Given the description of an element on the screen output the (x, y) to click on. 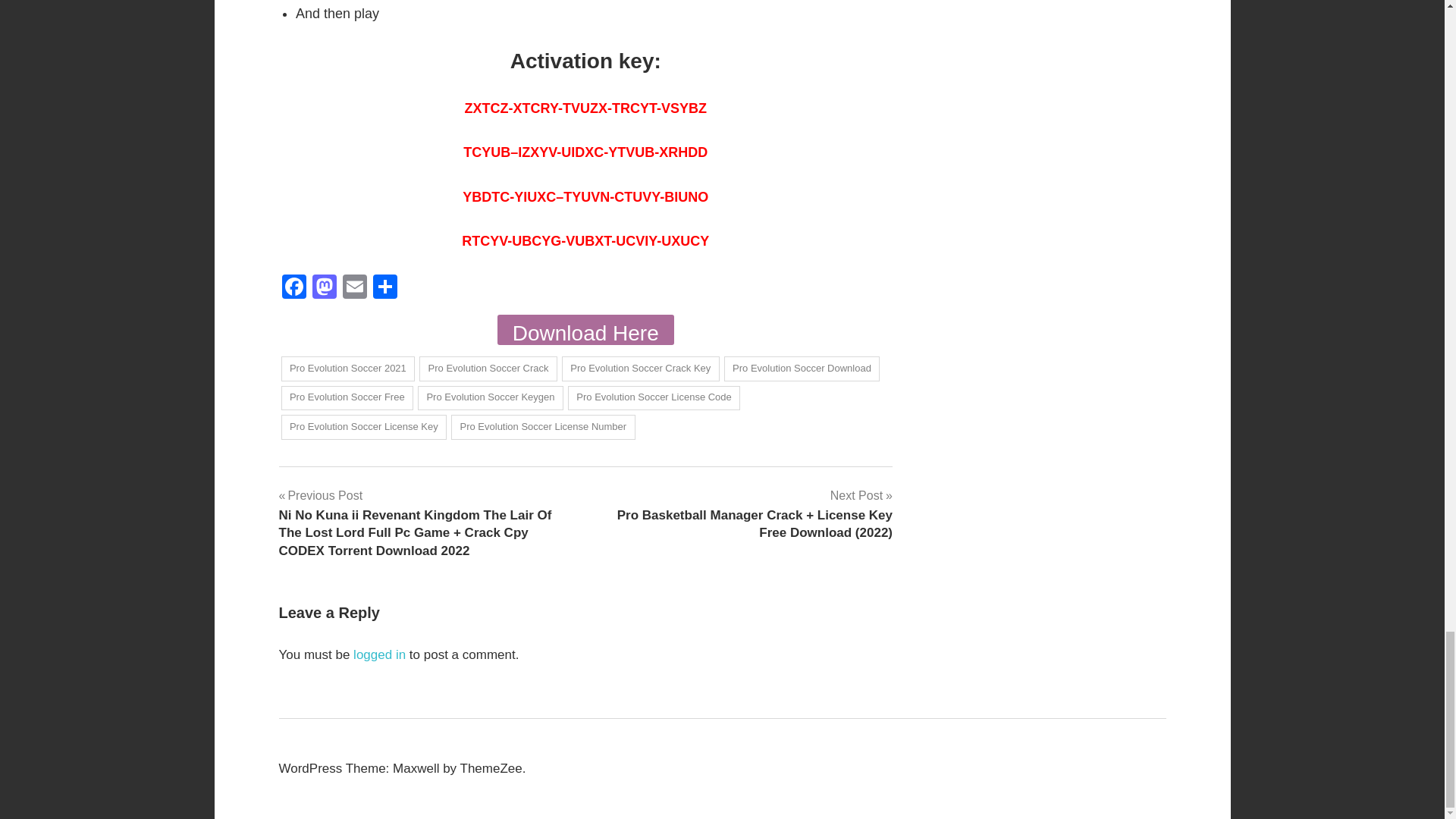
Pro Evolution Soccer 2021 (347, 368)
Pro Evolution Soccer Crack (488, 368)
logged in (379, 654)
Mastodon (323, 287)
Facebook (293, 287)
Mastodon (323, 287)
Pro Evolution Soccer Crack Key (640, 368)
Pro Evolution Soccer Download (801, 368)
Pro Evolution Soccer License Number (542, 426)
Facebook (293, 287)
